Given the description of an element on the screen output the (x, y) to click on. 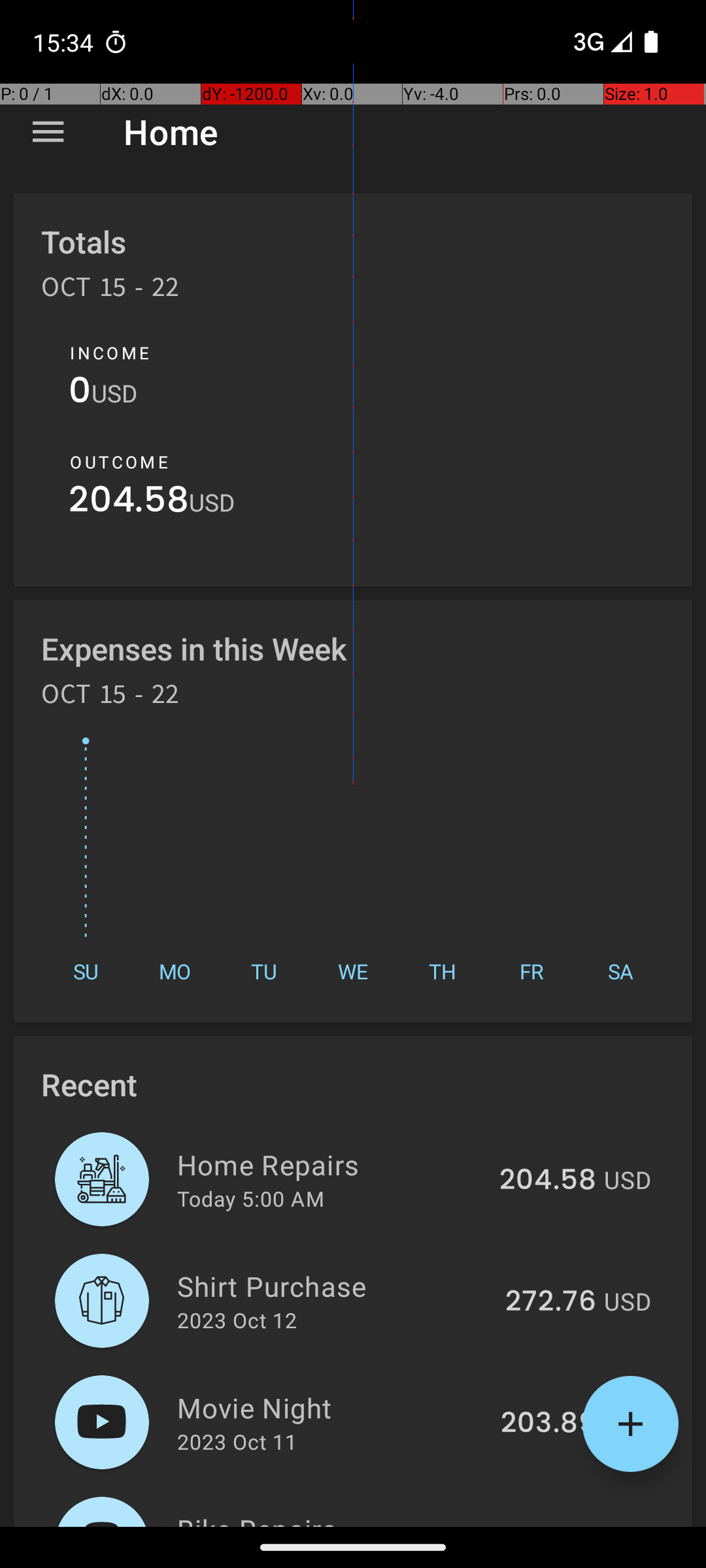
204.58 Element type: android.widget.TextView (128, 502)
Home Repairs Element type: android.widget.TextView (330, 1164)
Today 5:00 AM Element type: android.widget.TextView (250, 1198)
Shirt Purchase Element type: android.widget.TextView (333, 1285)
272.76 Element type: android.widget.TextView (550, 1301)
Movie Night Element type: android.widget.TextView (331, 1407)
203.89 Element type: android.widget.TextView (548, 1423)
Bike Repairs Element type: android.widget.TextView (343, 1518)
179.4 Element type: android.widget.TextView (560, 1524)
